Given the description of an element on the screen output the (x, y) to click on. 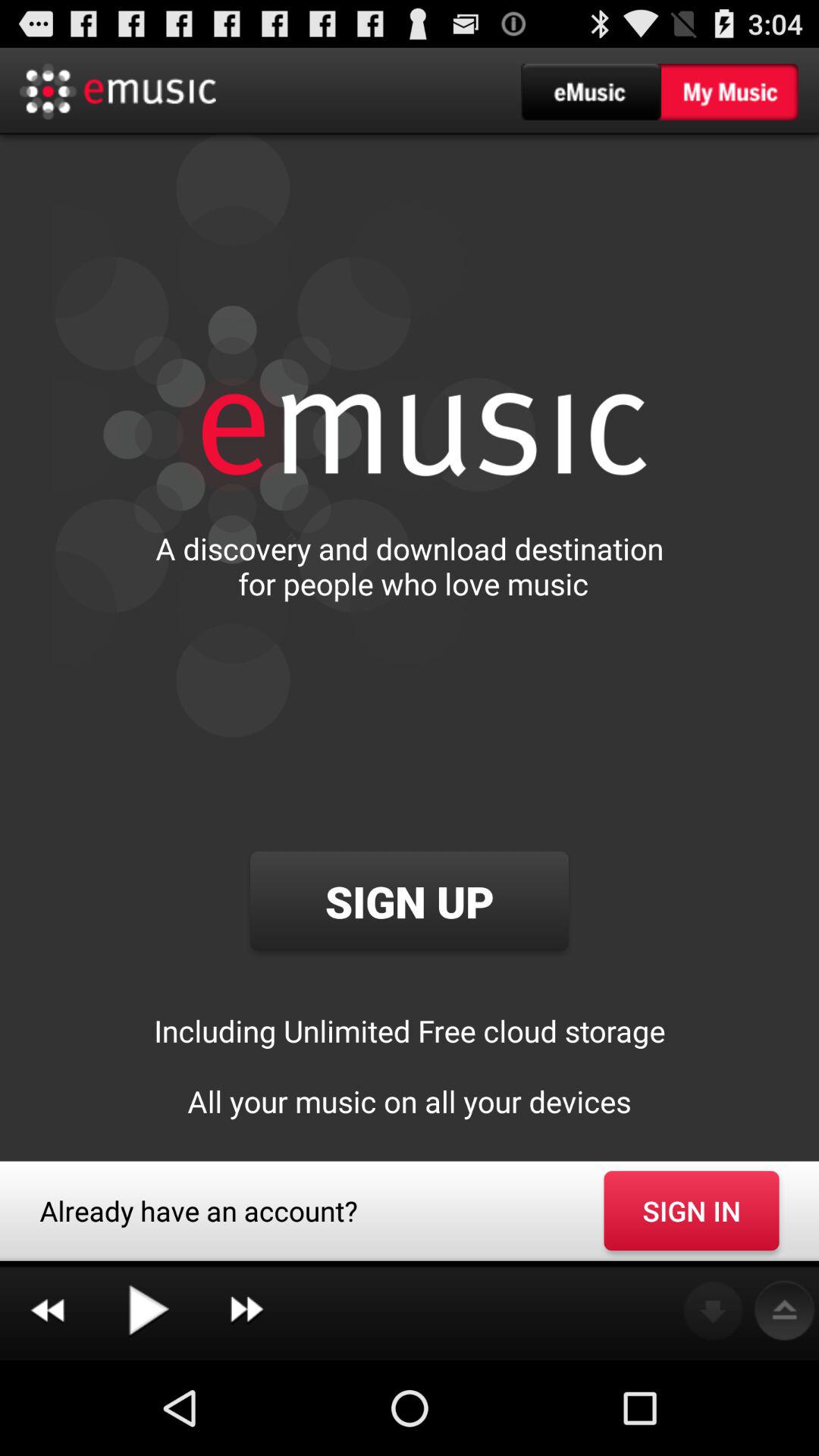
open item below already have an item (47, 1311)
